Given the description of an element on the screen output the (x, y) to click on. 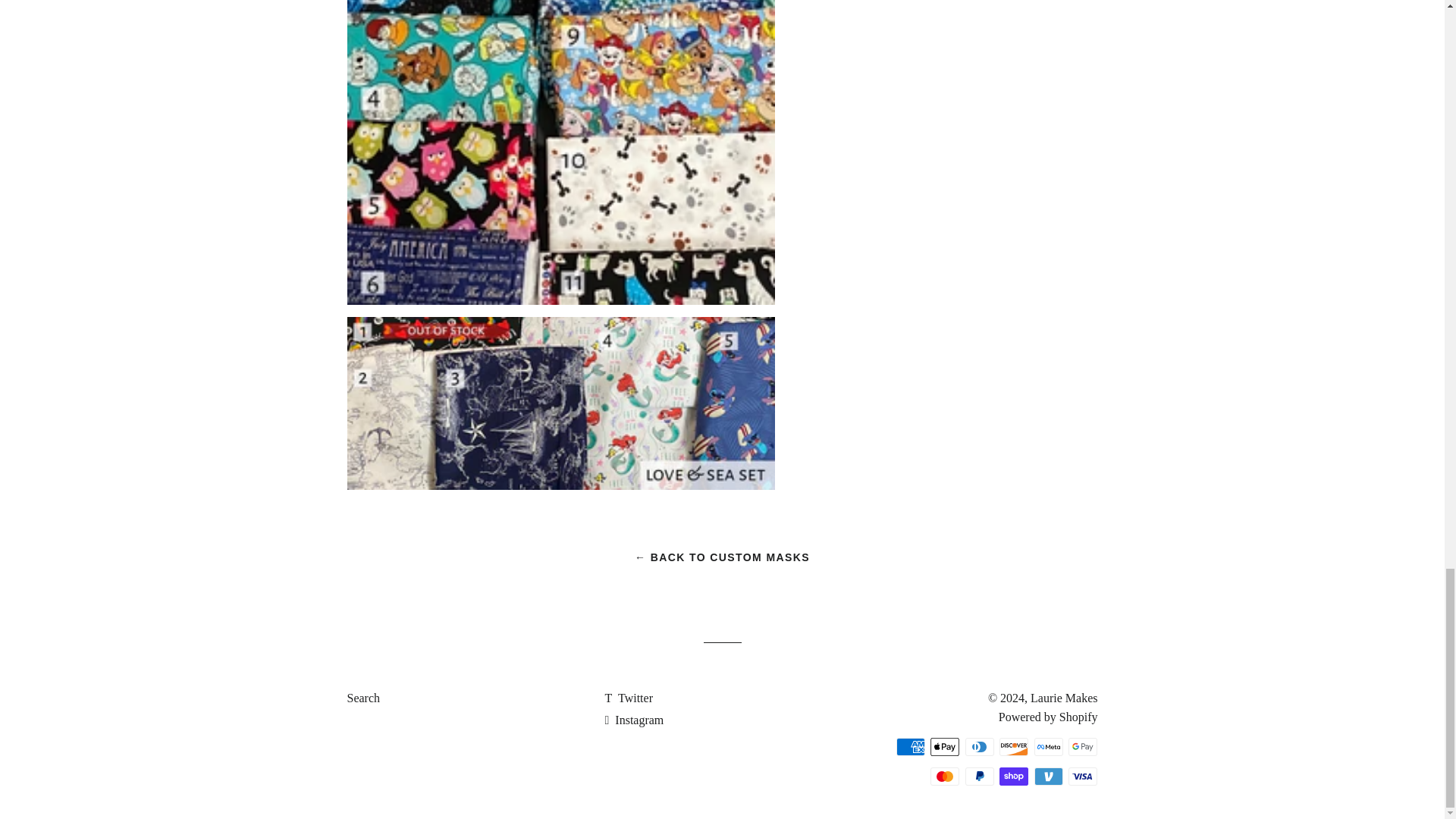
American Express (910, 746)
Meta Pay (1047, 746)
Laurie Makes on Instagram (633, 719)
Apple Pay (944, 746)
Shop Pay (1012, 776)
Discover (1012, 746)
Visa (1082, 776)
Google Pay (1082, 746)
Mastercard (944, 776)
PayPal (979, 776)
Diners Club (979, 746)
Laurie Makes on Twitter (628, 697)
Venmo (1047, 776)
